Given the description of an element on the screen output the (x, y) to click on. 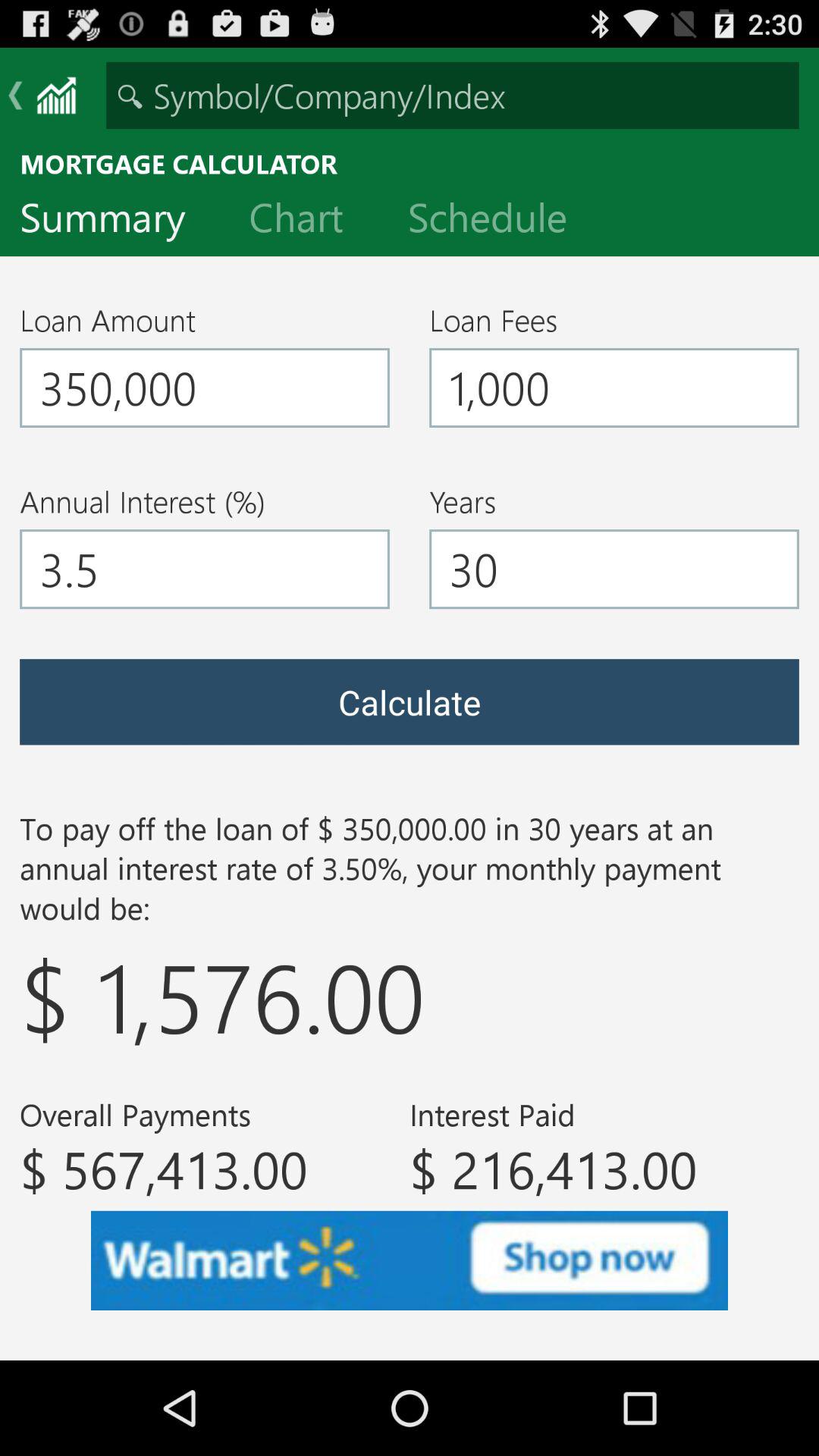
turn off item next to the chart (114, 220)
